Given the description of an element on the screen output the (x, y) to click on. 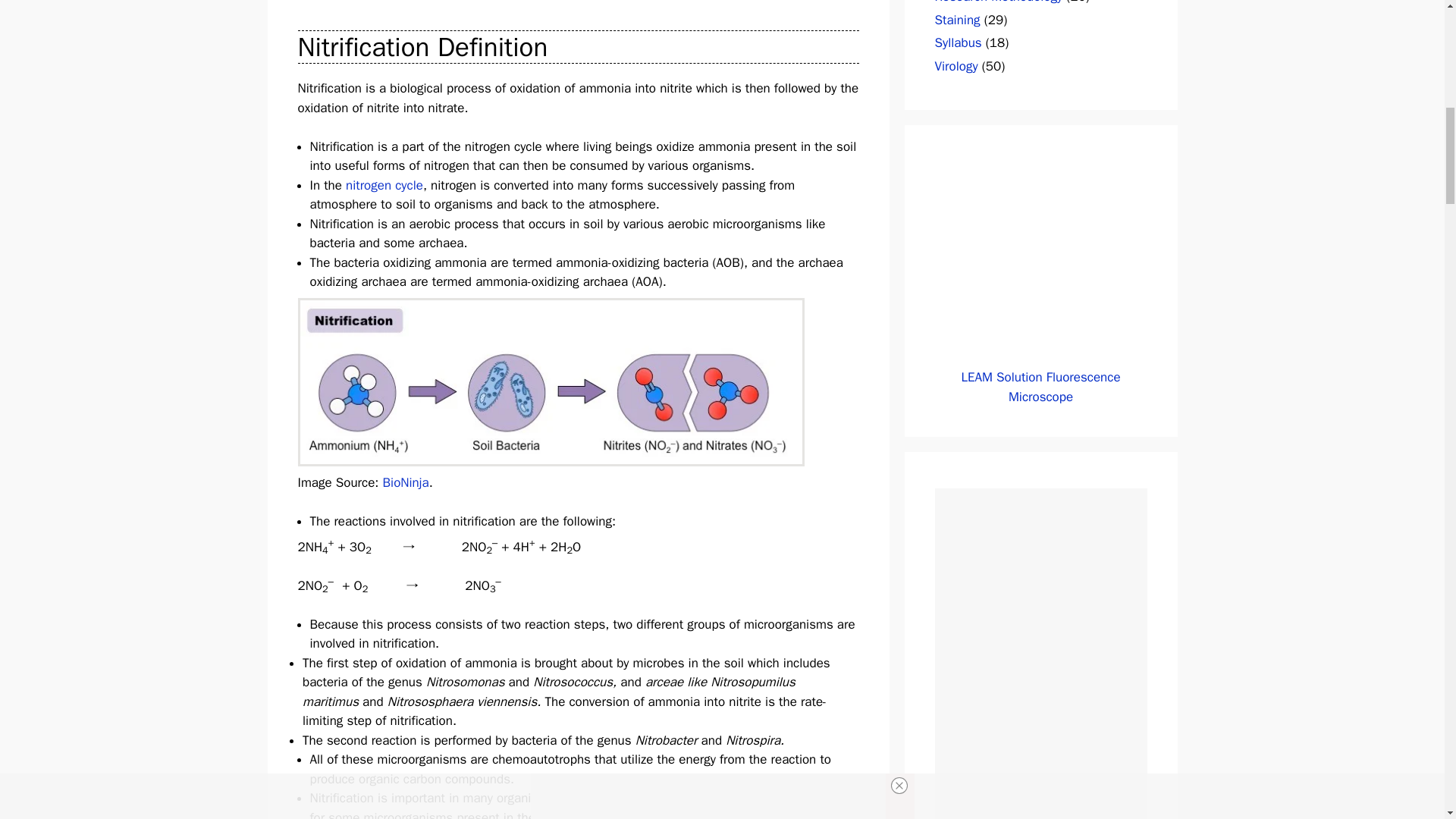
3rd party ad content (1040, 709)
nitrogen cycle (384, 185)
LEAM Solution Fluorescence Microscope (1040, 261)
BioNinja (405, 482)
